Given the description of an element on the screen output the (x, y) to click on. 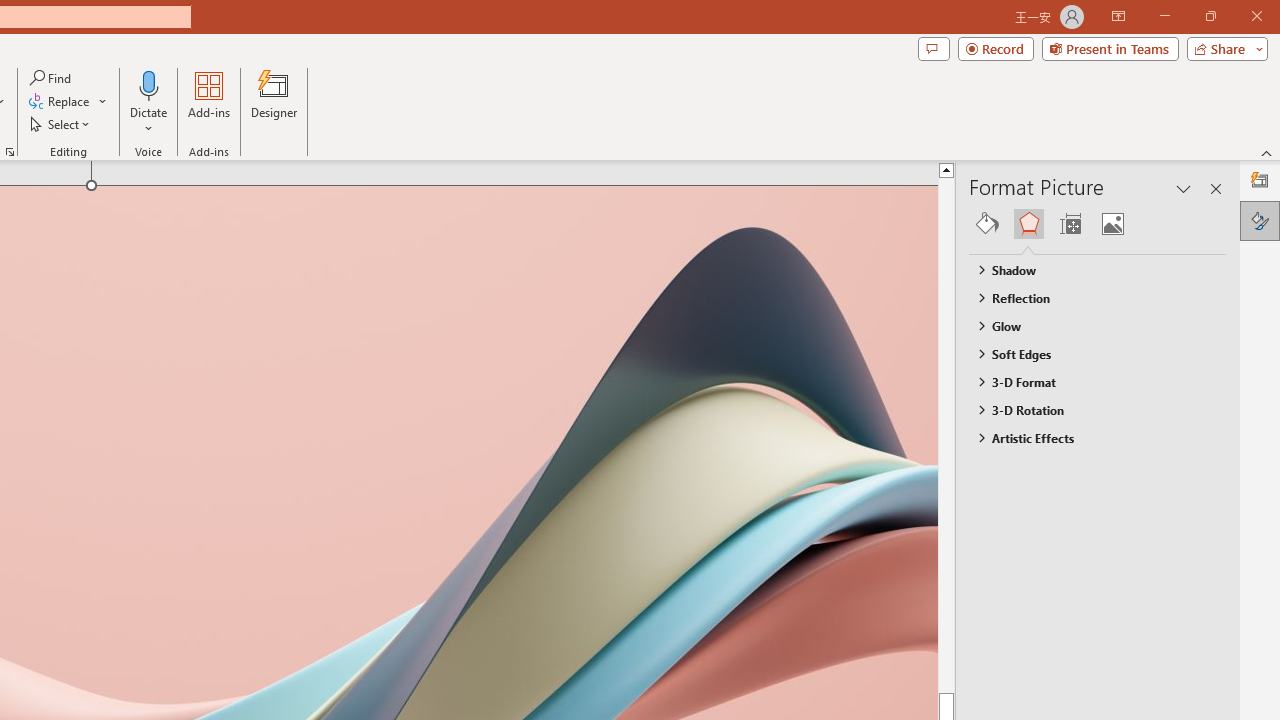
Shadow (1088, 269)
Format Picture (1260, 220)
3-D Format (1088, 381)
3-D Rotation (1088, 410)
Fill & Line (987, 223)
Artistic Effects (1088, 438)
